Given the description of an element on the screen output the (x, y) to click on. 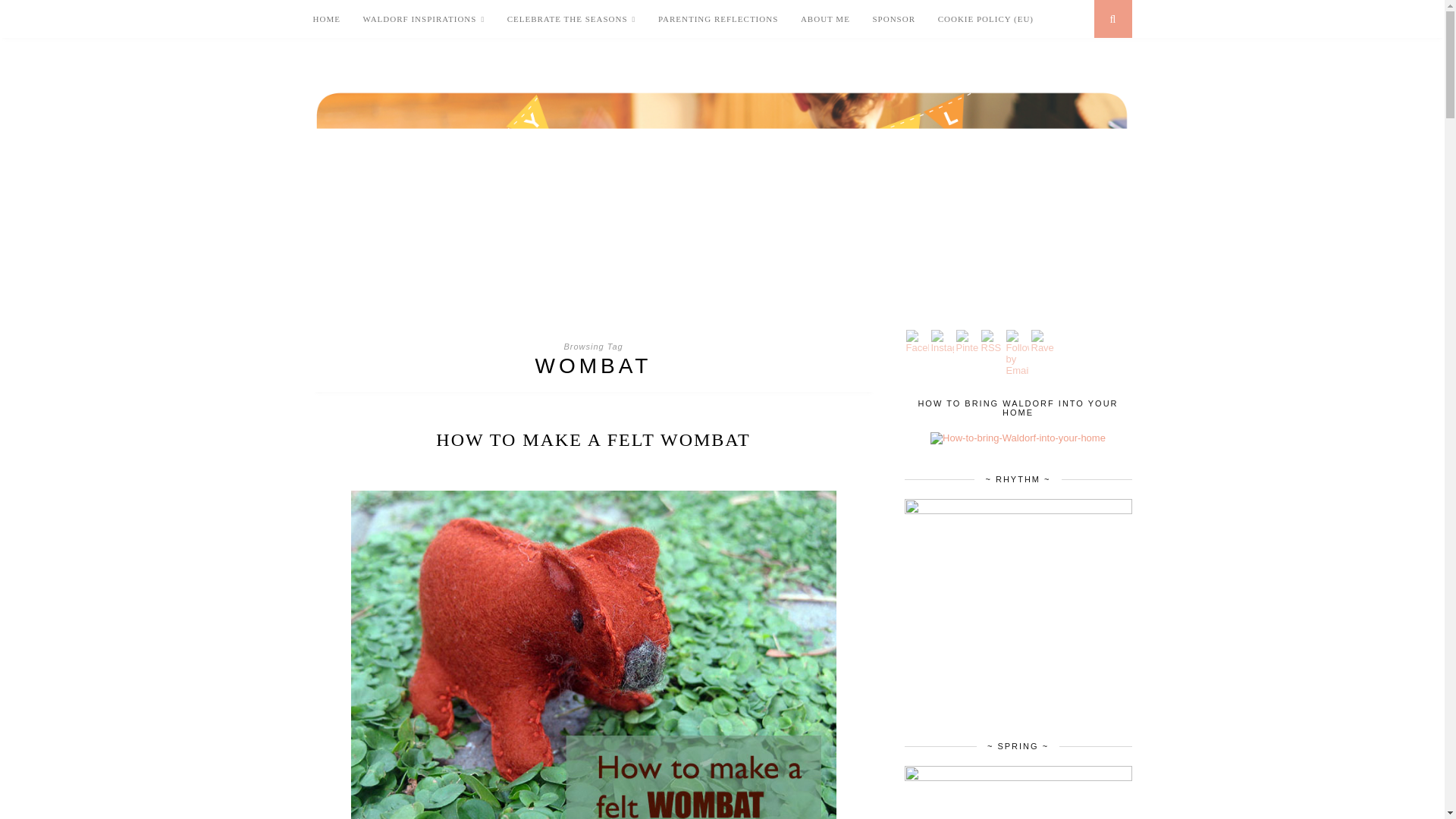
Instagram (942, 341)
ABOUT ME (825, 18)
Facebook (916, 341)
Ravelry (1042, 341)
Pinterest (966, 341)
RSS (992, 341)
CELEBRATE THE SEASONS (571, 19)
HOW TO MAKE A FELT WOMBAT (592, 439)
PARENTING REFLECTIONS (717, 18)
SPONSOR (893, 18)
WALDORF INSPIRATIONS (423, 19)
